Given the description of an element on the screen output the (x, y) to click on. 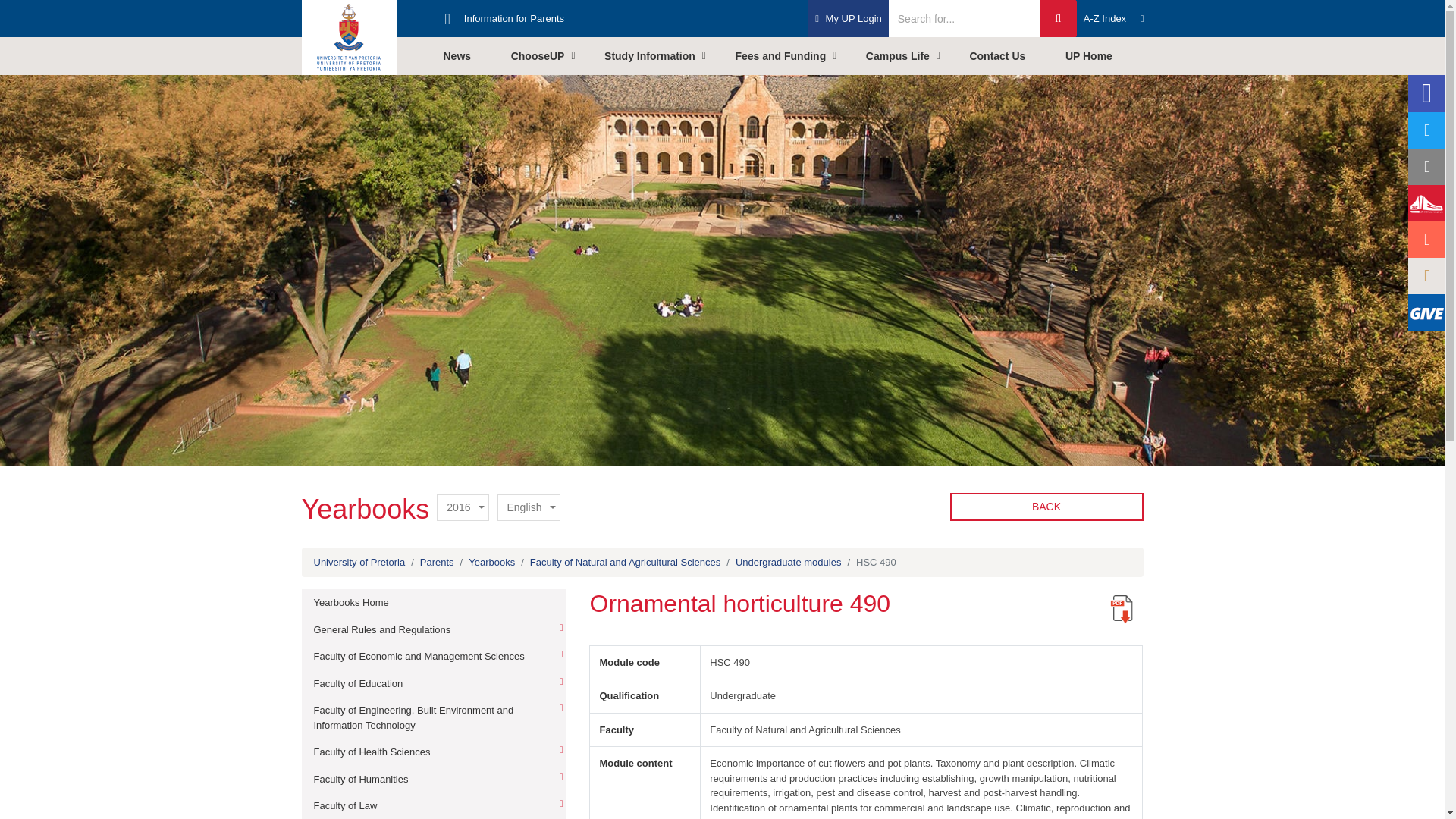
A-Z Index (1114, 18)
Study Information (660, 55)
UP Home (1099, 55)
Campus Life (908, 55)
News (466, 55)
Contact Us (1008, 55)
Information for Parents (513, 18)
Fees and Funding (790, 55)
ChooseUP (548, 55)
My UP Login (848, 18)
